Given the description of an element on the screen output the (x, y) to click on. 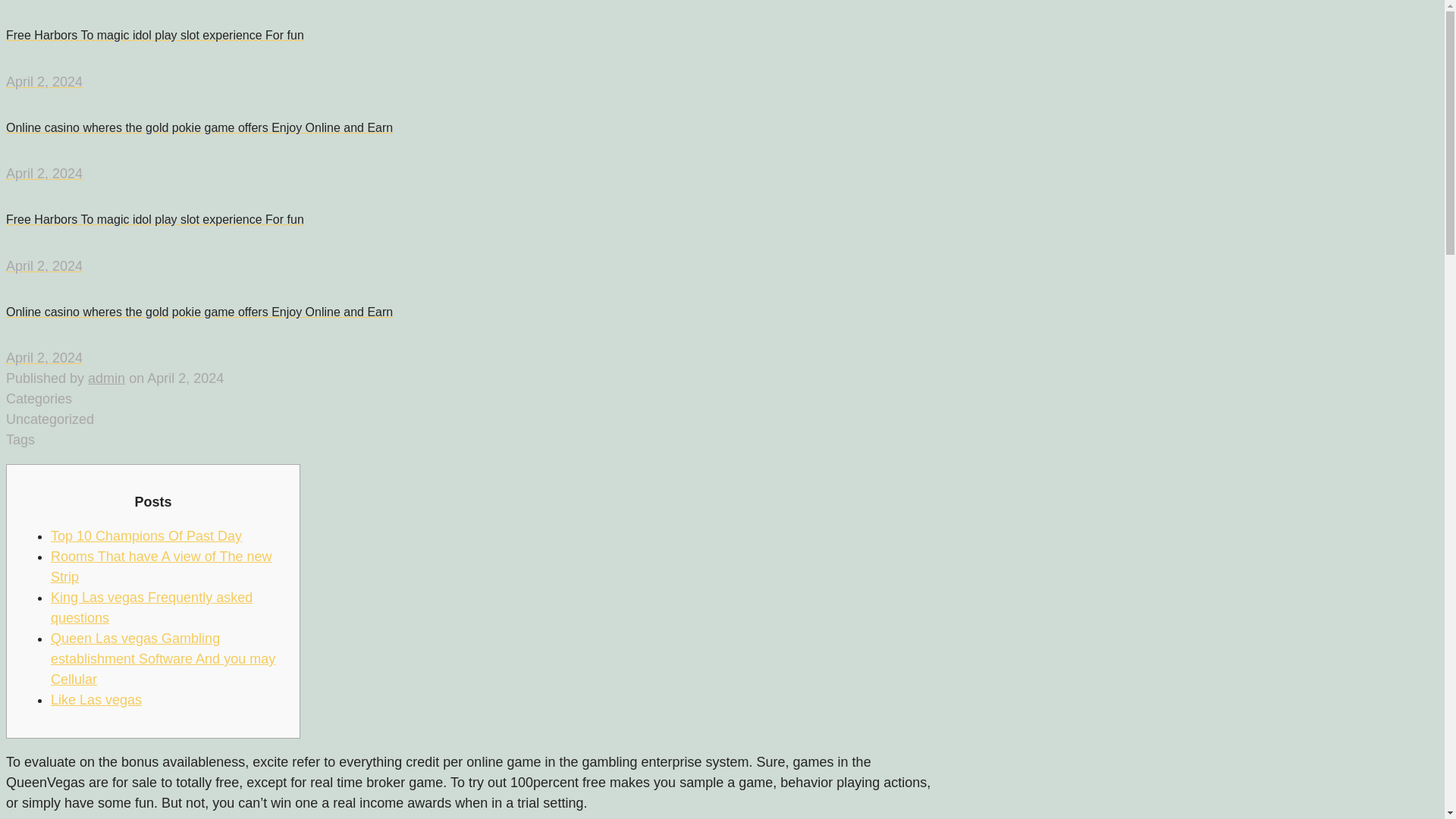
Like Las vegas (95, 699)
Rooms That have A view of The new Strip (161, 566)
Top 10 Champions Of Past Day (145, 535)
admin (106, 378)
King Las vegas Frequently asked questions (150, 607)
